Given the description of an element on the screen output the (x, y) to click on. 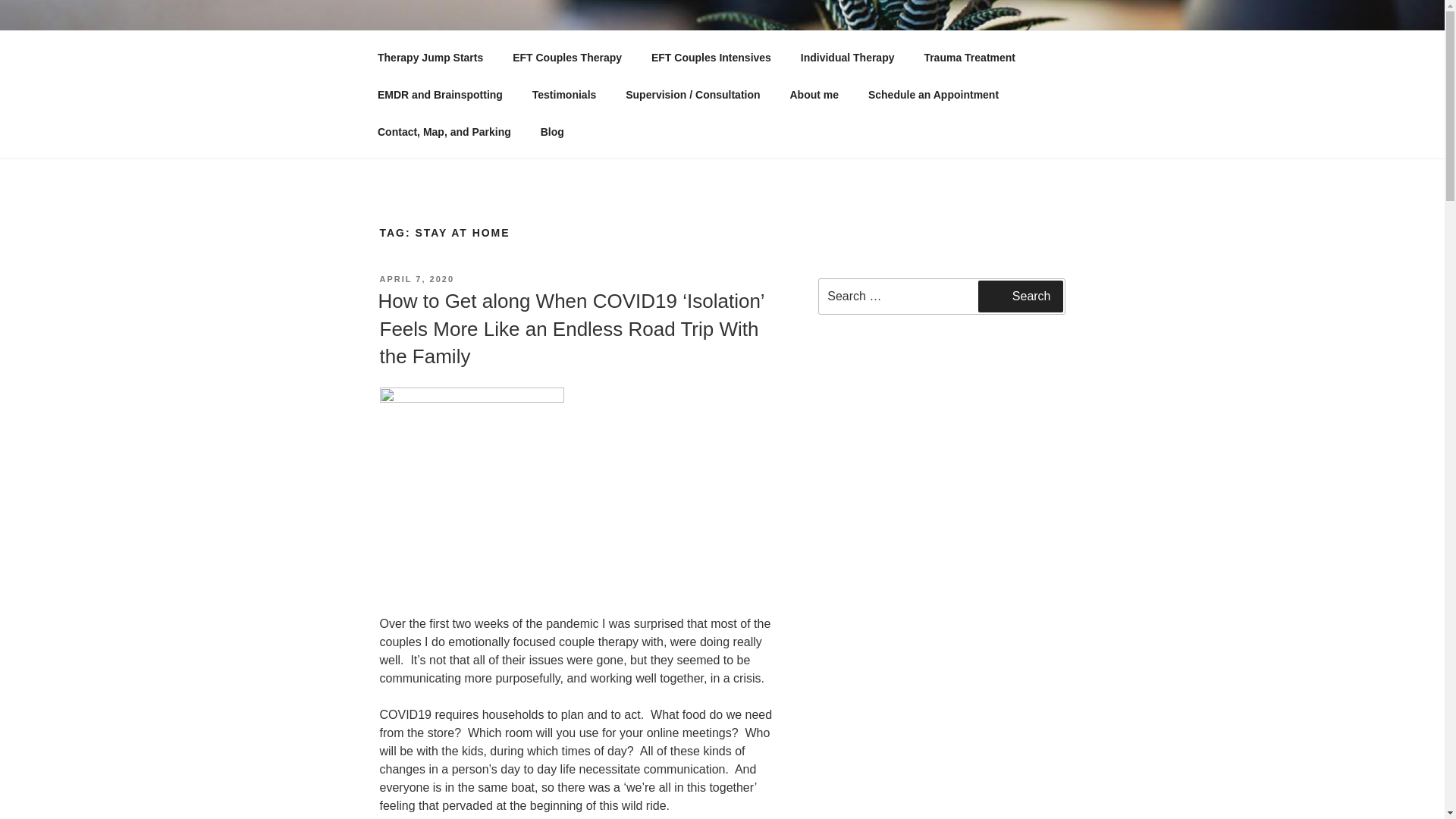
EFT Couples Intensives (710, 57)
APRIL 7, 2020 (416, 278)
Search (1020, 296)
Schedule an Appointment (932, 94)
Trauma Treatment (970, 57)
Contact, Map, and Parking (444, 131)
EMDR and Brainspotting (439, 94)
Individual Therapy (847, 57)
About me (813, 94)
Blog (557, 131)
Therapy Jump Starts (430, 57)
EFT Couples Therapy (566, 57)
Testimonials (564, 94)
